Given the description of an element on the screen output the (x, y) to click on. 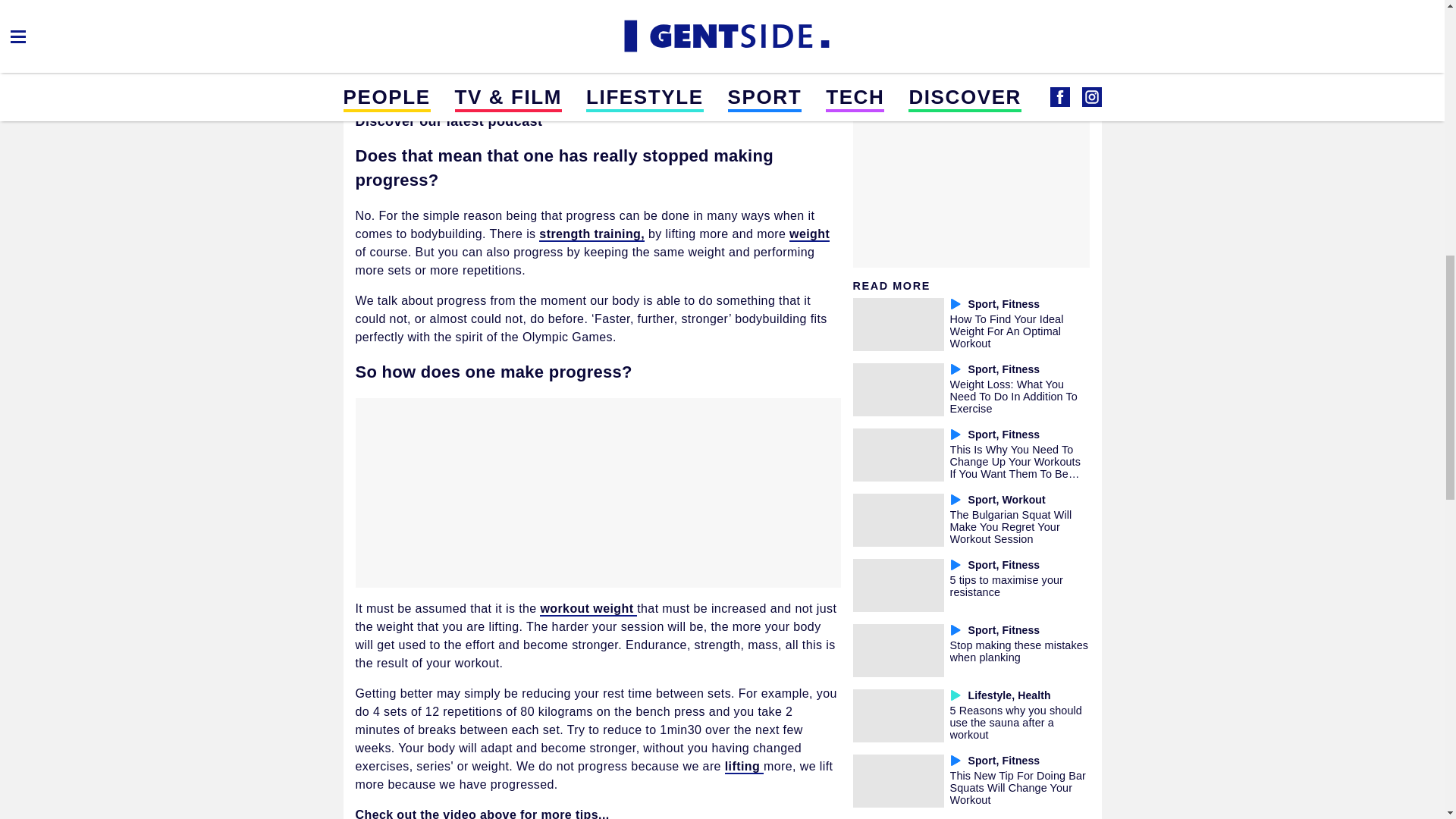
Tweeter (488, 7)
Share on Facebook (378, 7)
weight training (508, 36)
workout weight (588, 608)
Pin it (524, 7)
Share on Flipboard (451, 7)
Share on Mail (415, 7)
strength training, (591, 234)
weight (809, 234)
How To Find Your Ideal Weight For An Optimal Workout (1005, 330)
lifting (743, 766)
